Given the description of an element on the screen output the (x, y) to click on. 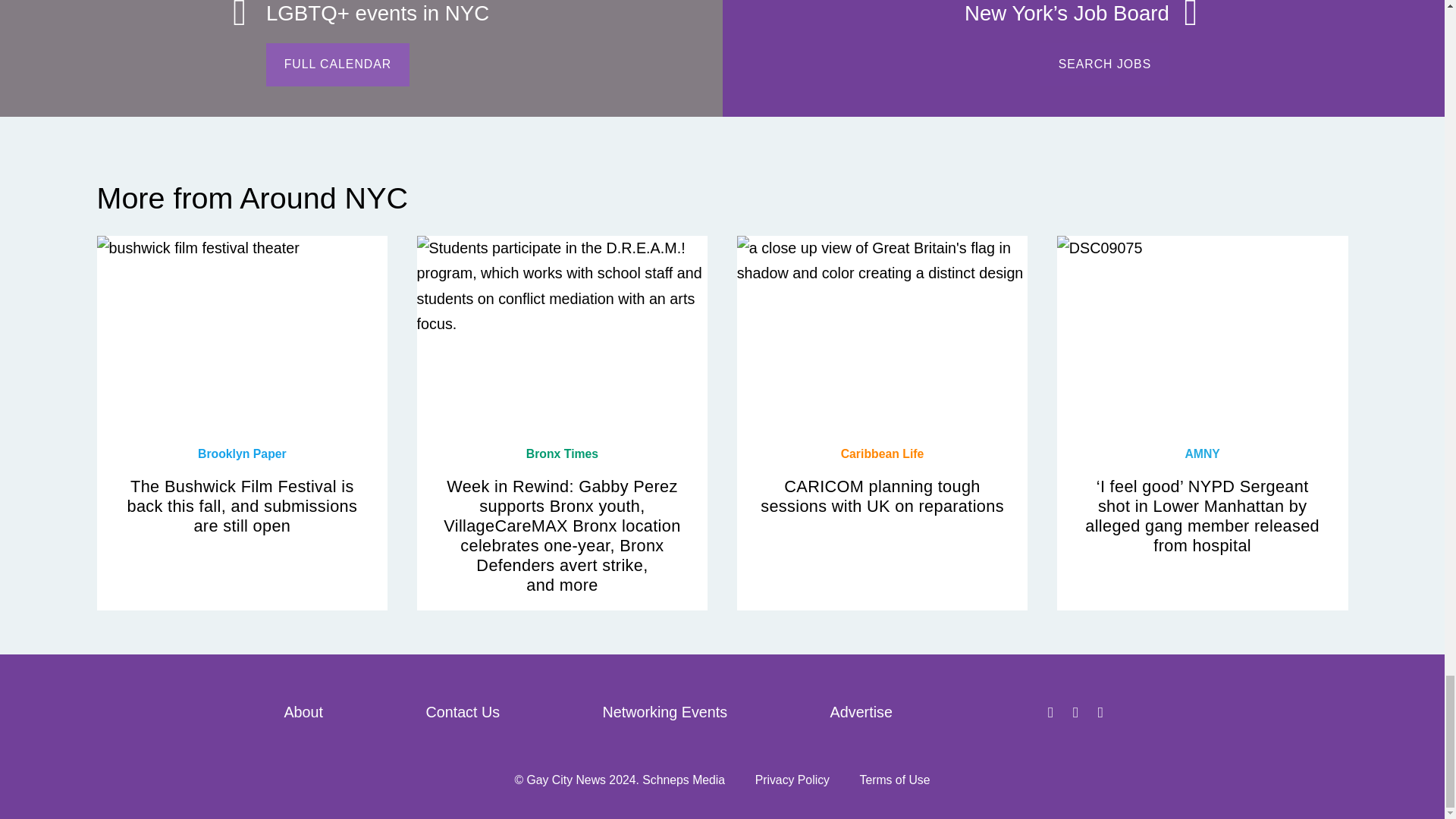
Instagram (1102, 712)
Facebook (1053, 712)
Twitter (1078, 712)
